Given the description of an element on the screen output the (x, y) to click on. 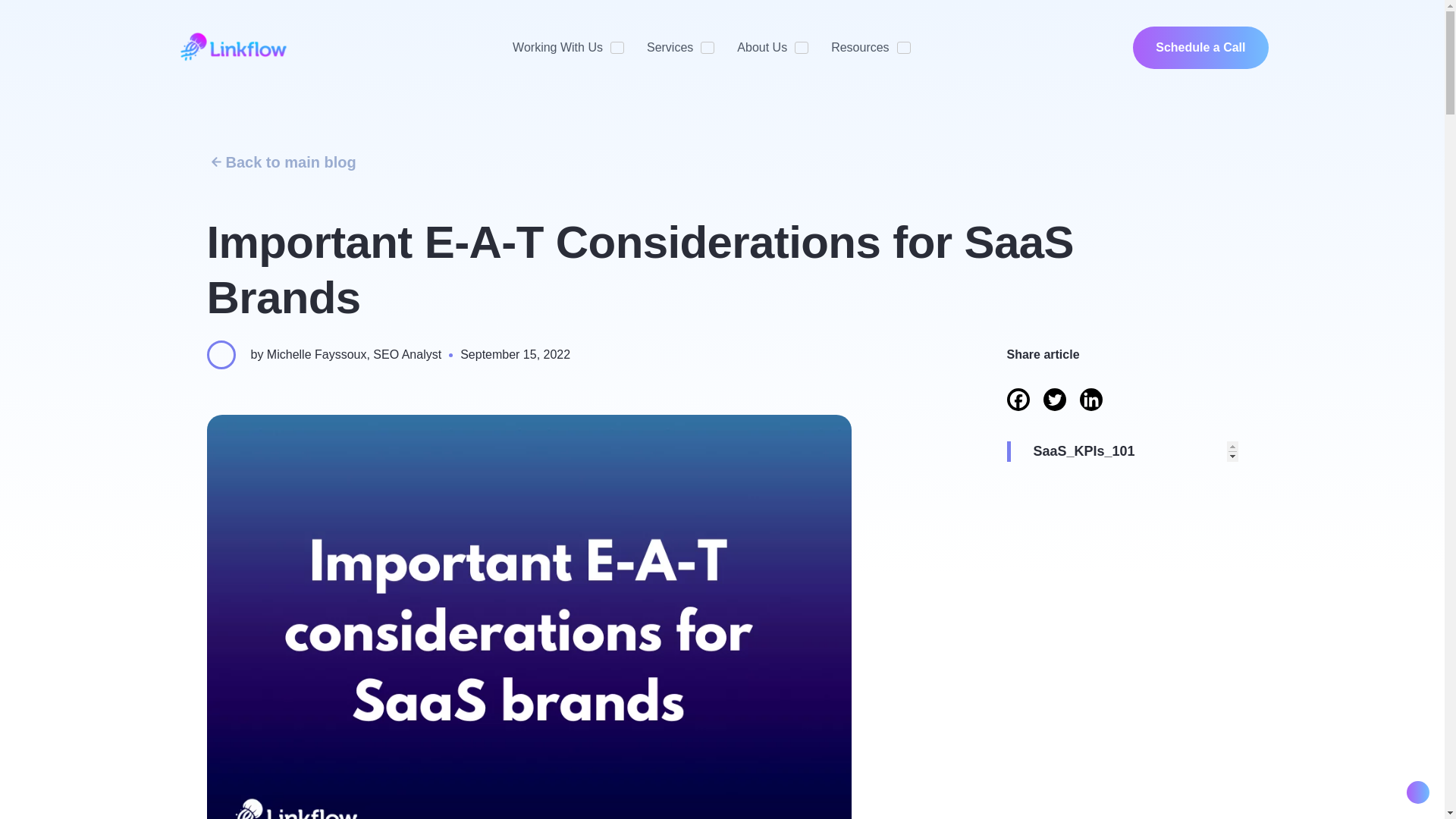
Twitter (1054, 399)
Schedule a Call (1200, 47)
by Michelle Fayssoux, SEO Analyst (345, 354)
Services (669, 47)
Facebook (1018, 399)
Resources (859, 47)
Linkedin (1091, 399)
Back to main blog (721, 161)
Working With Us (557, 47)
About Us (761, 47)
